Given the description of an element on the screen output the (x, y) to click on. 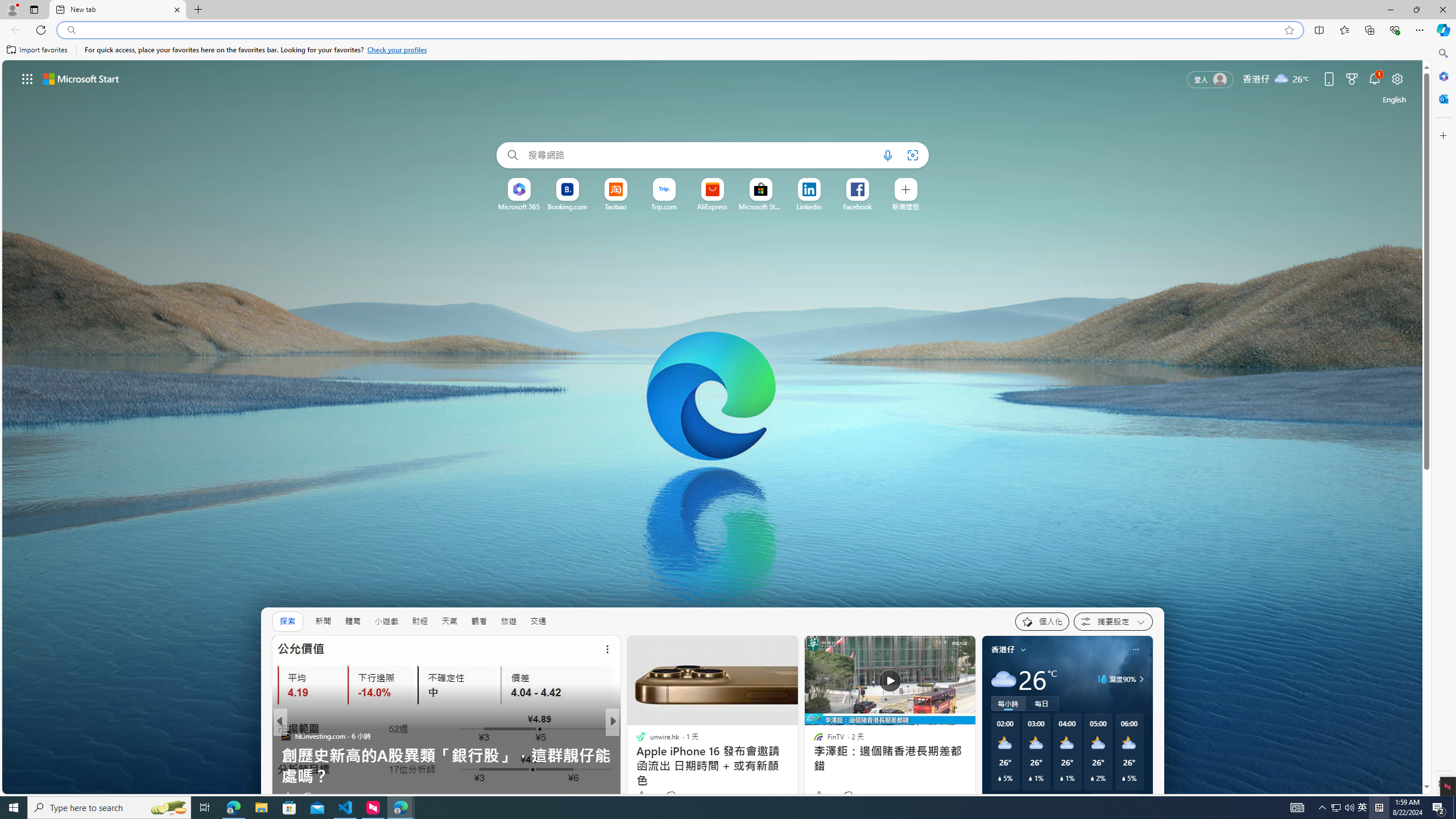
Microsoft start (81, 78)
United States (English) (1393, 99)
